Given the description of an element on the screen output the (x, y) to click on. 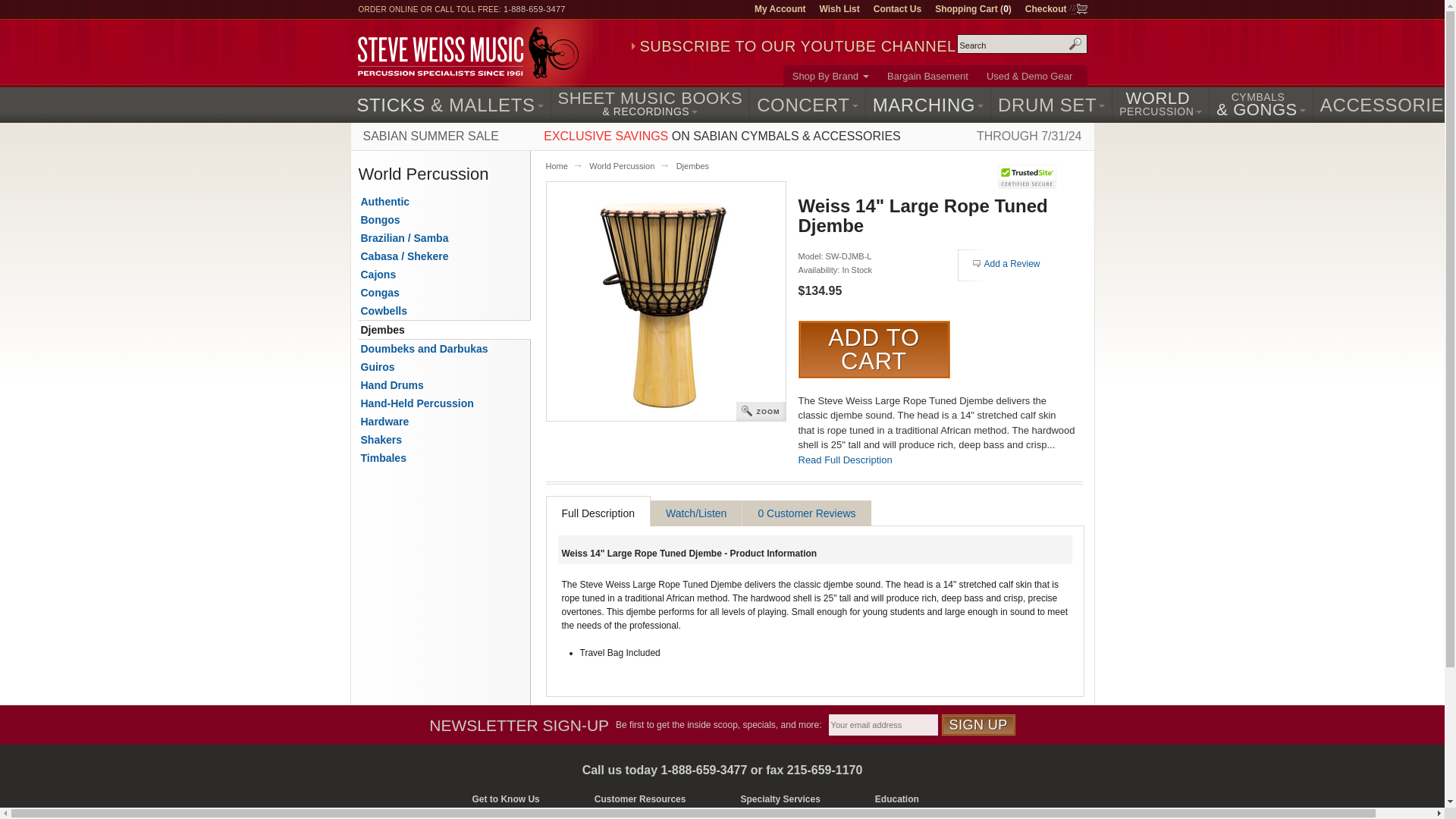
CONCERT (806, 104)
MARCHING (928, 104)
